Given the description of an element on the screen output the (x, y) to click on. 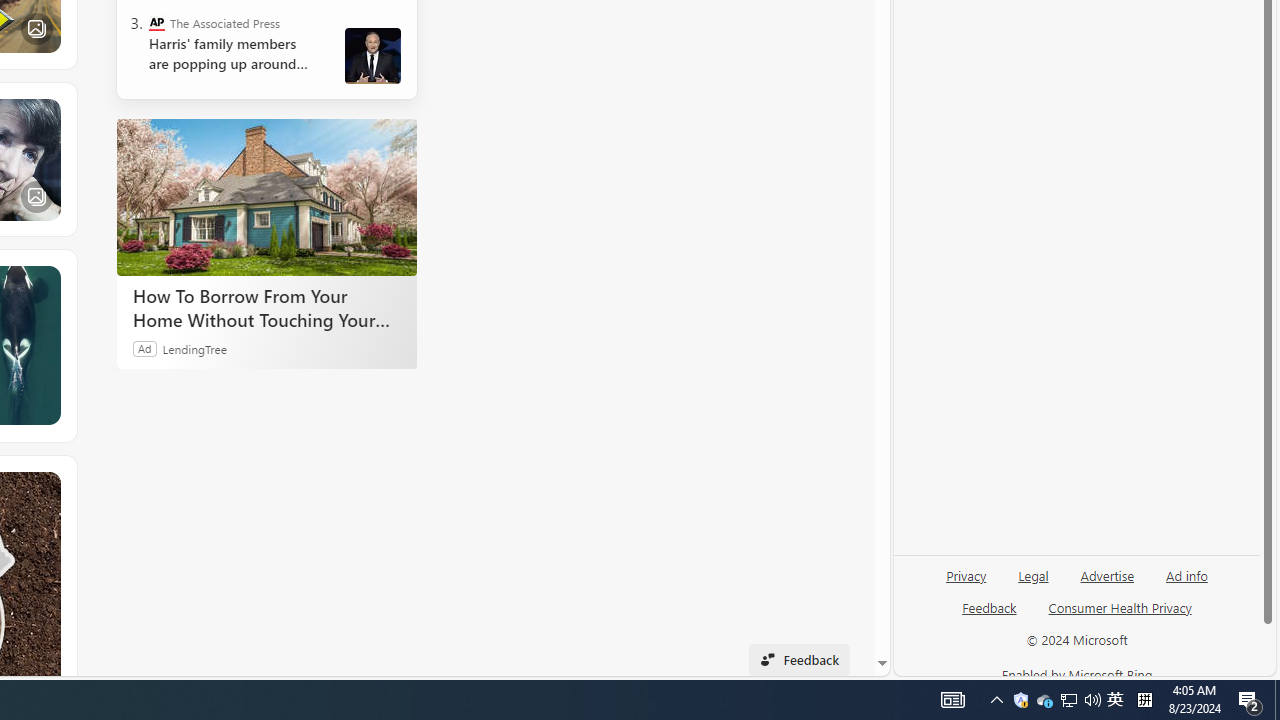
Ad info (1186, 583)
How To Borrow From Your Home Without Touching Your Mortgage (266, 307)
